Given the description of an element on the screen output the (x, y) to click on. 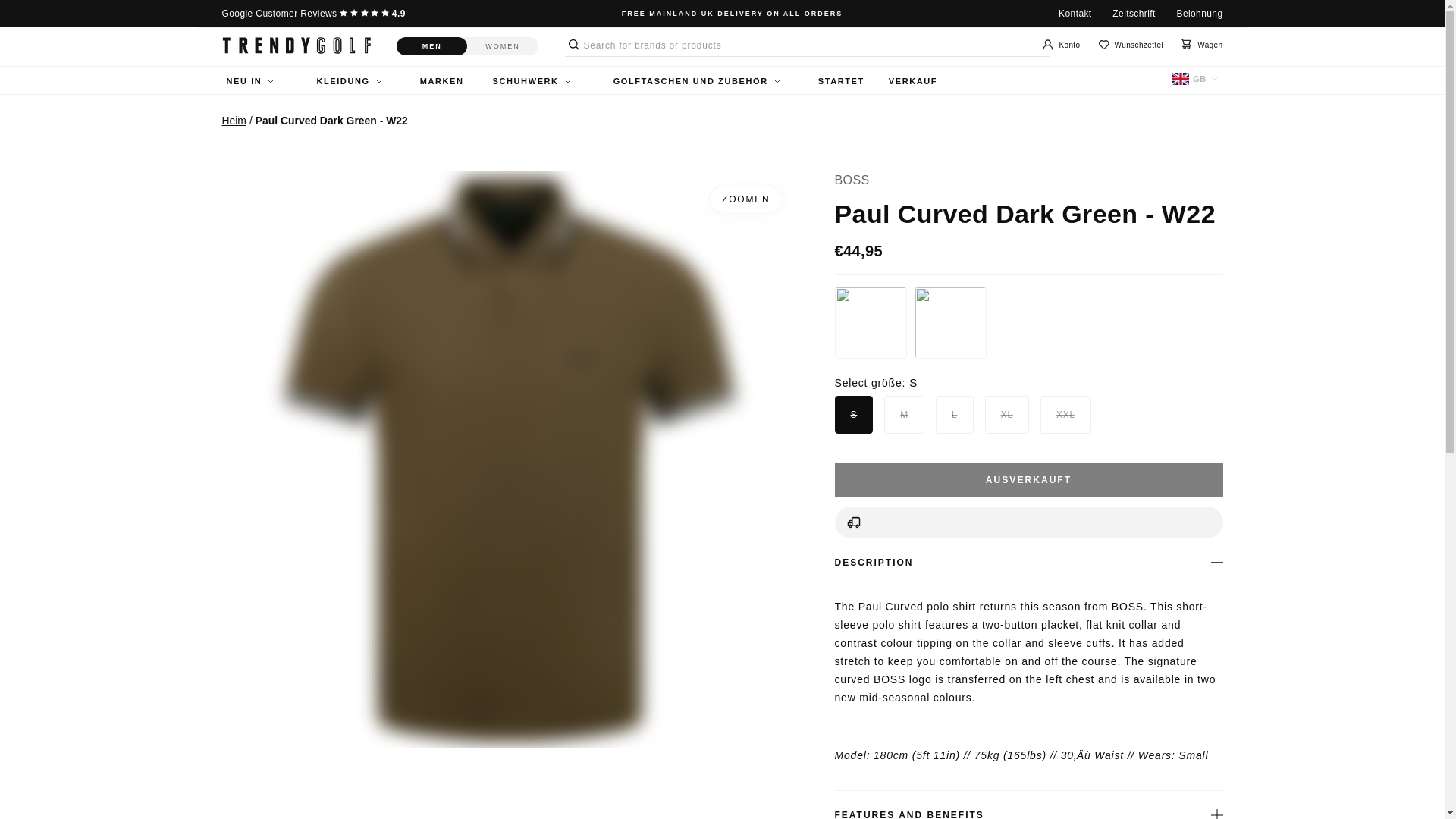
Wagen (1201, 44)
Belohnung (1199, 13)
L (940, 414)
Kontakt (1075, 13)
Wunschzettel (1131, 45)
Konto (1061, 45)
WOMEN (502, 45)
TRENDYGOLF UK (295, 45)
NEU IN (249, 81)
Zeitschrift (1133, 13)
